Given the description of an element on the screen output the (x, y) to click on. 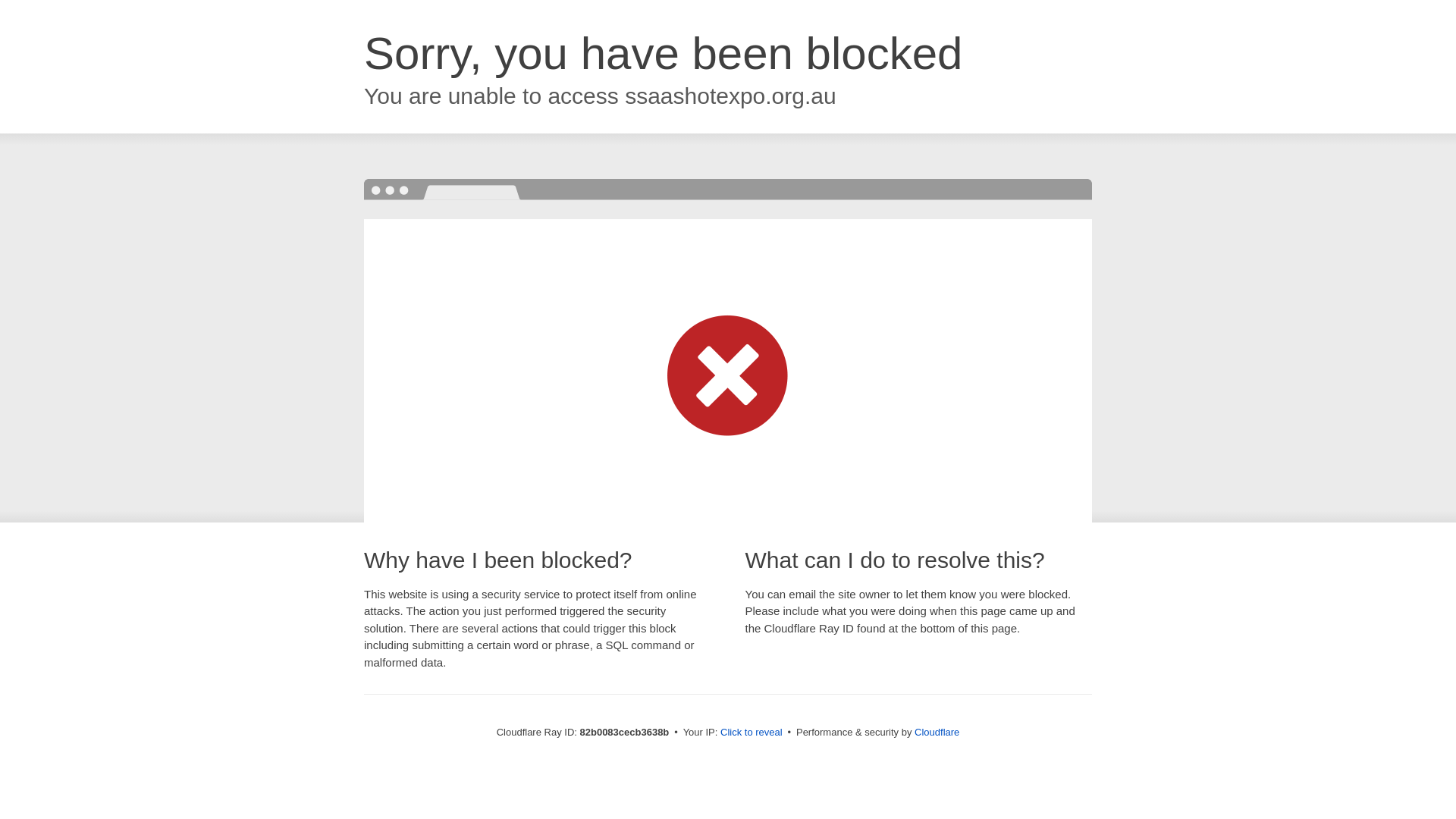
Cloudflare Element type: text (936, 731)
Click to reveal Element type: text (751, 732)
